Given the description of an element on the screen output the (x, y) to click on. 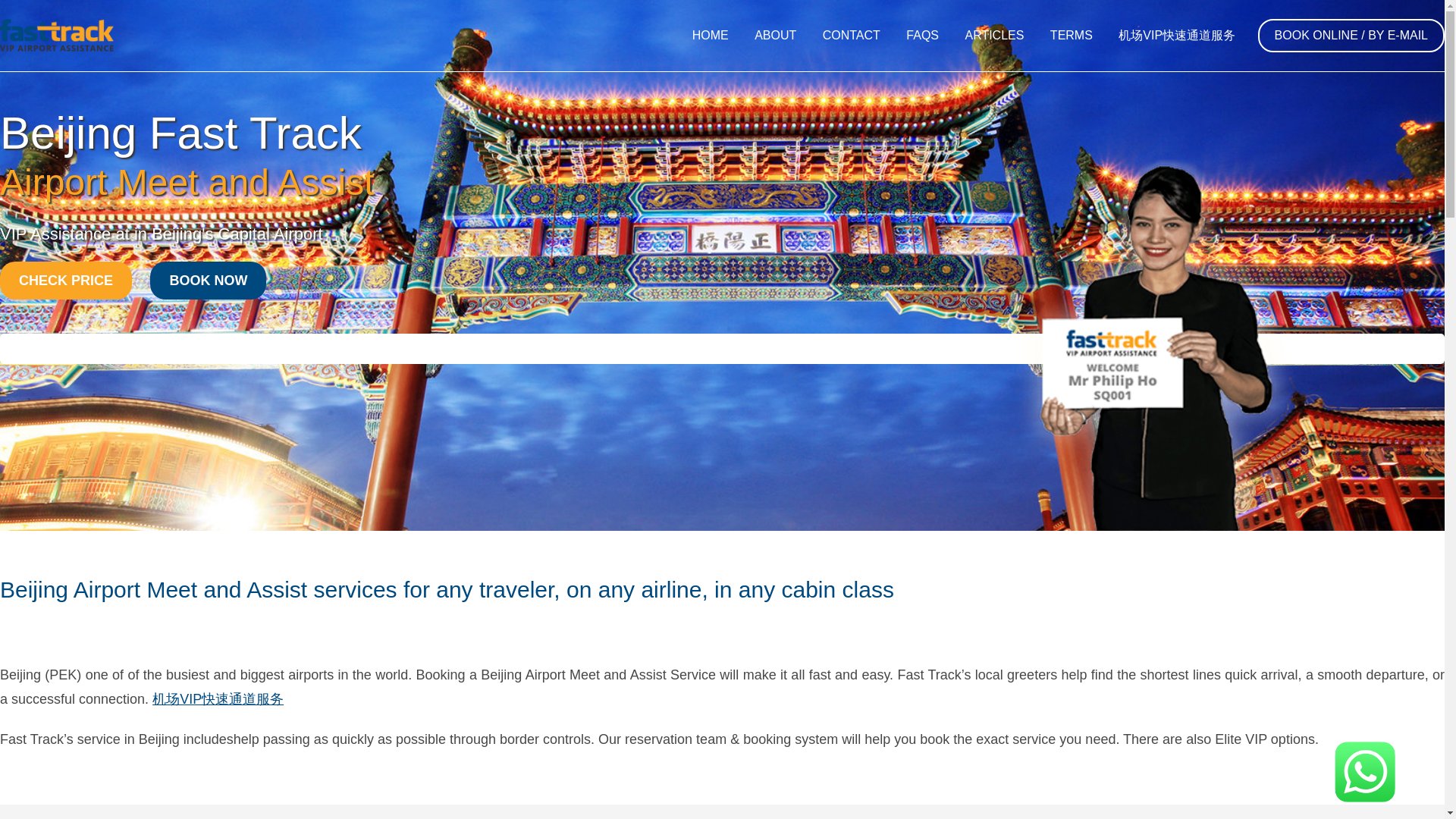
ARTICLES (994, 35)
ABOUT (775, 35)
FAQS (922, 35)
CHECK PRICE (66, 280)
CONTACT (850, 35)
BOOK NOW (207, 280)
TERMS (1071, 35)
HOME (710, 35)
